Given the description of an element on the screen output the (x, y) to click on. 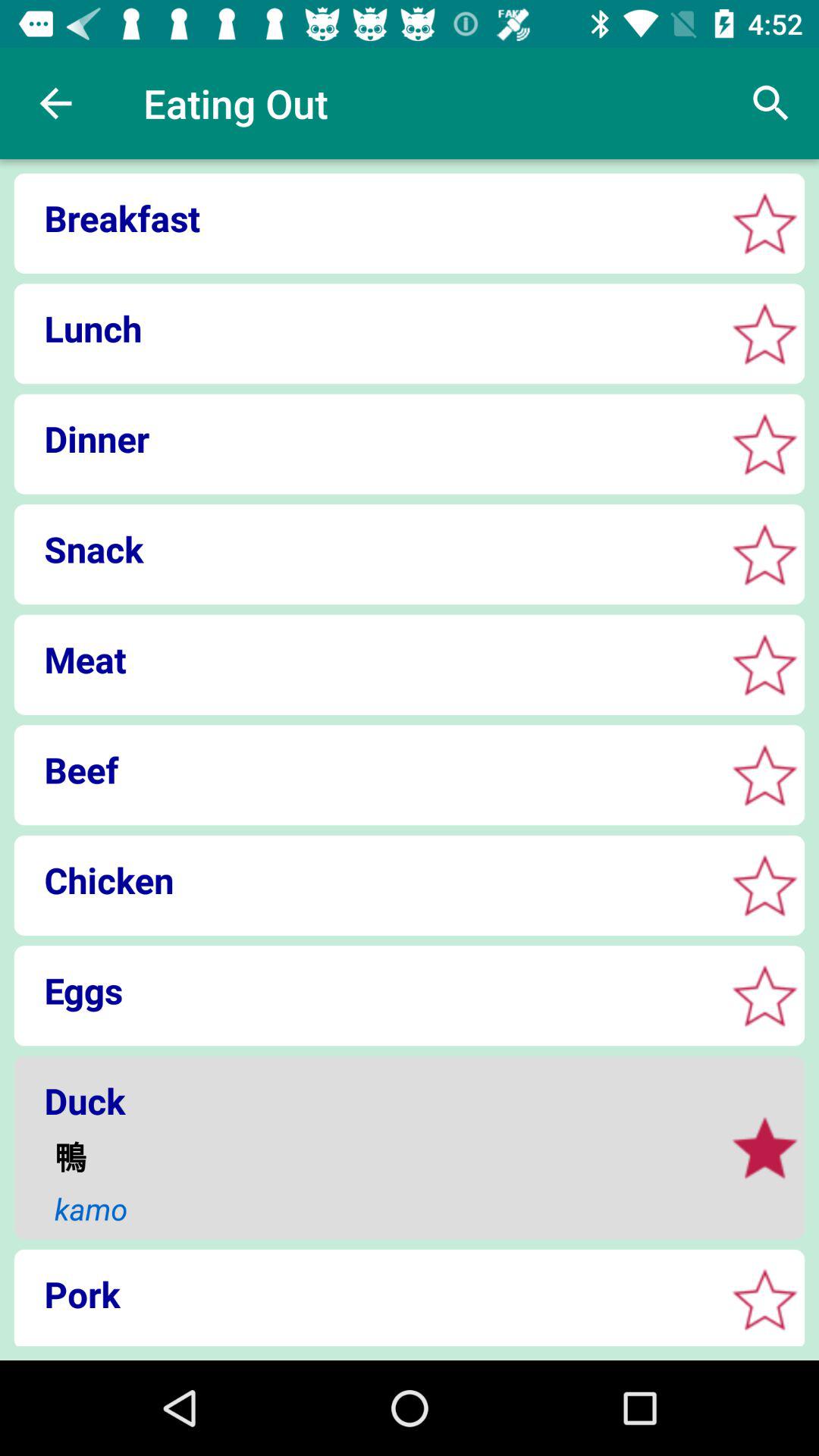
click the item above the kamo (379, 1156)
